Given the description of an element on the screen output the (x, y) to click on. 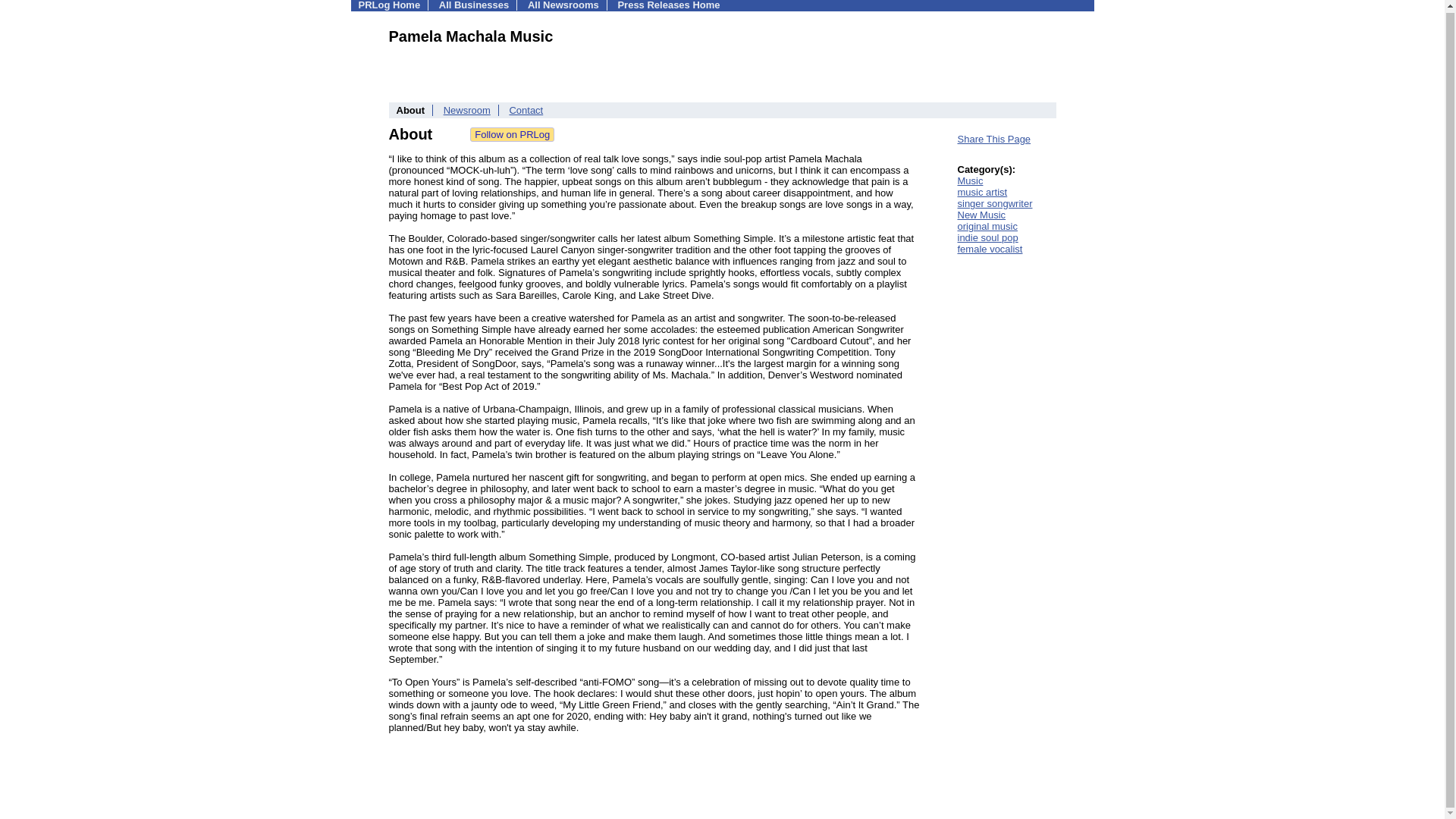
All Businesses (474, 5)
singer songwriter (994, 203)
music artist (981, 192)
Contact (525, 110)
Music (969, 180)
Follow on PRLog (512, 134)
Newsroom (467, 110)
All Newsrooms (562, 5)
PRLog Home (389, 5)
Follow press release news from this business (512, 134)
